Given the description of an element on the screen output the (x, y) to click on. 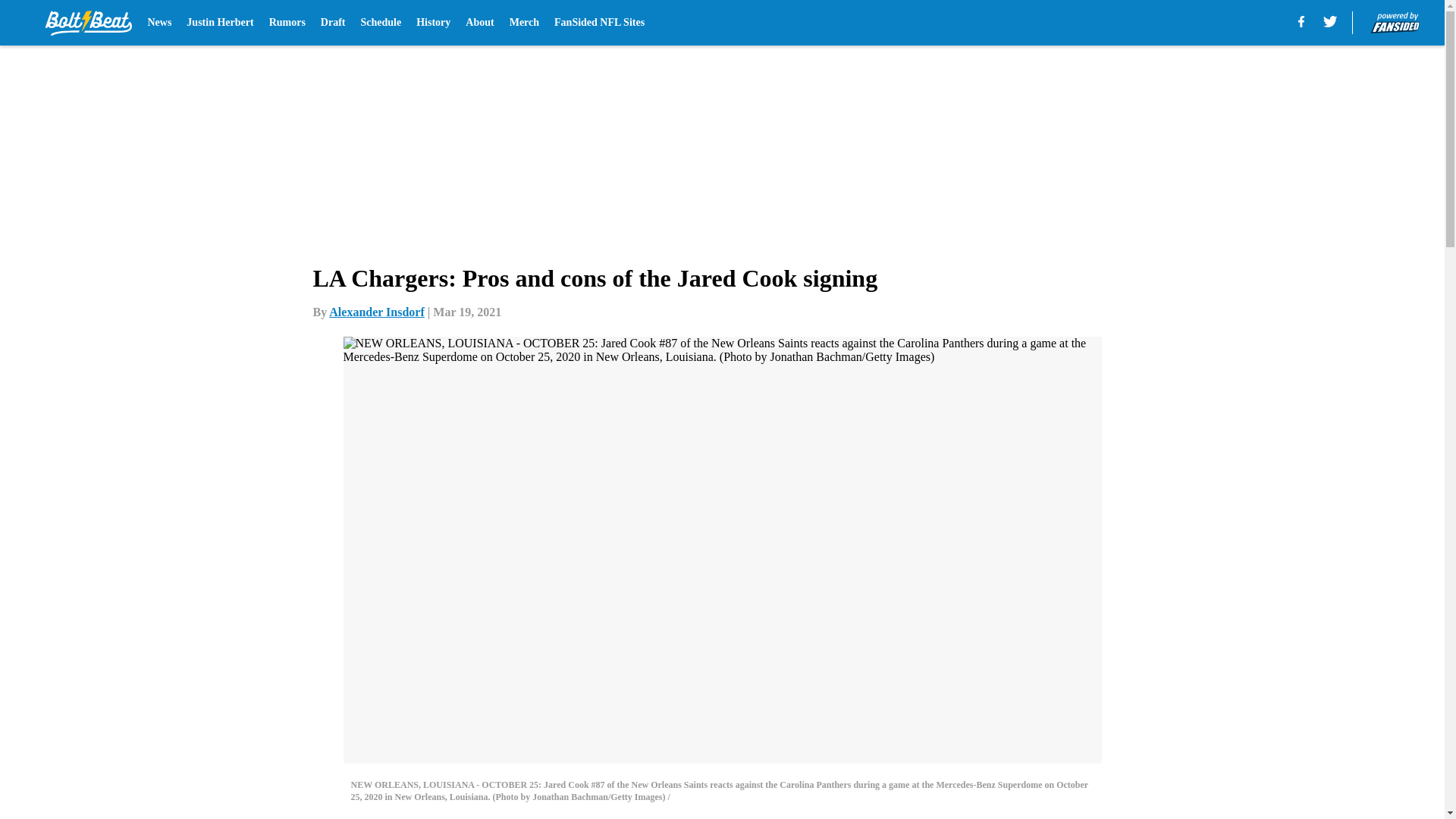
FanSided NFL Sites (599, 22)
News (159, 22)
Schedule (381, 22)
History (432, 22)
Rumors (287, 22)
Draft (333, 22)
Merch (523, 22)
About (479, 22)
Alexander Insdorf (377, 311)
Justin Herbert (219, 22)
